Given the description of an element on the screen output the (x, y) to click on. 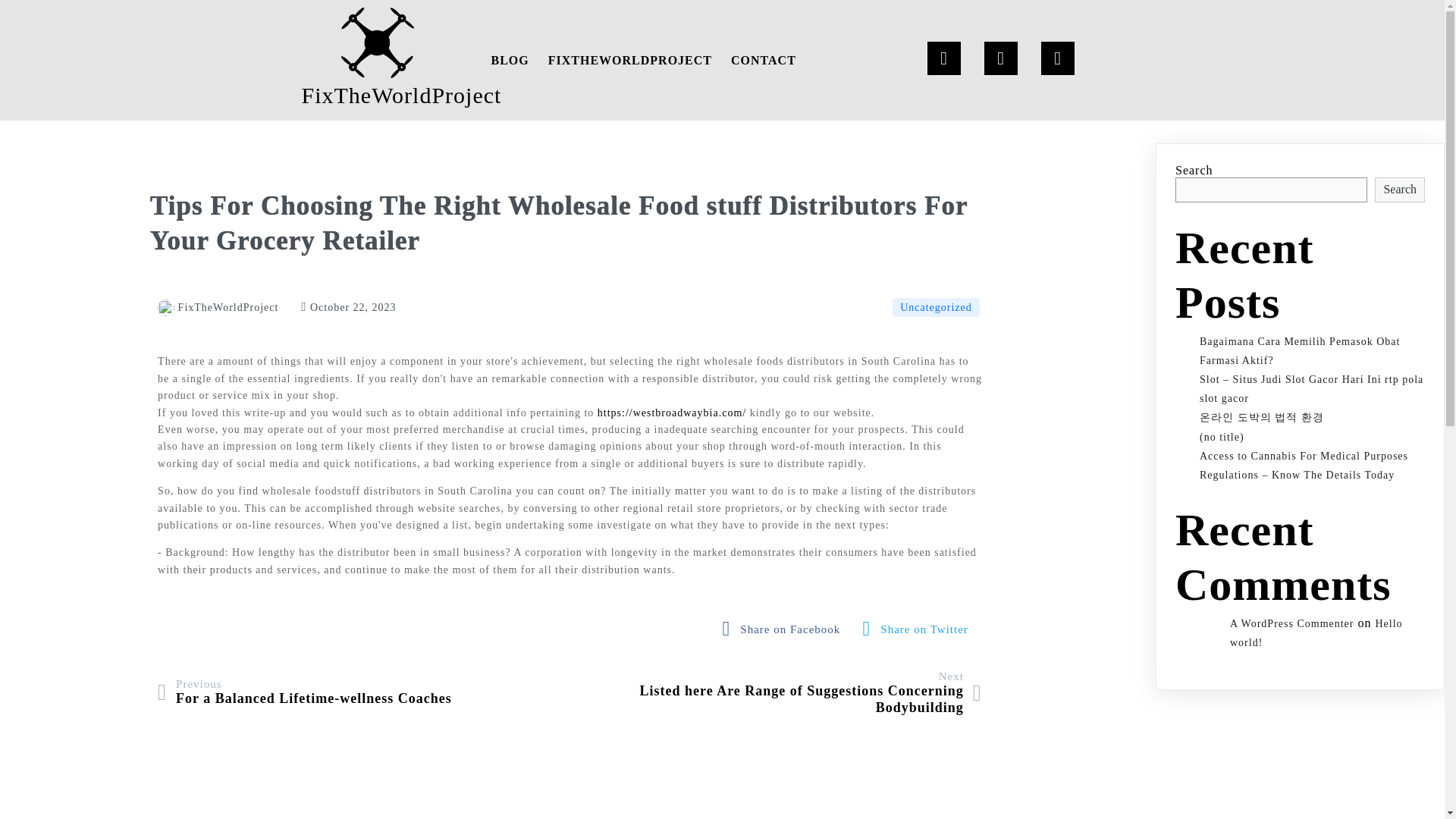
October 22, 2023 (348, 307)
fab fa-twitter-square (920, 628)
Hello world! (1316, 633)
CONTACT (763, 59)
FixTheWorldProject (377, 60)
Share on Facebook (786, 628)
Search (1399, 189)
Bagaimana Cara Memilih Pemasok Obat Farmasi Aktif? (1299, 350)
fab fa-facebook-square (786, 628)
Uncategorized (935, 307)
logo (376, 42)
BLOG (510, 59)
Share on Twitter (304, 692)
